Given the description of an element on the screen output the (x, y) to click on. 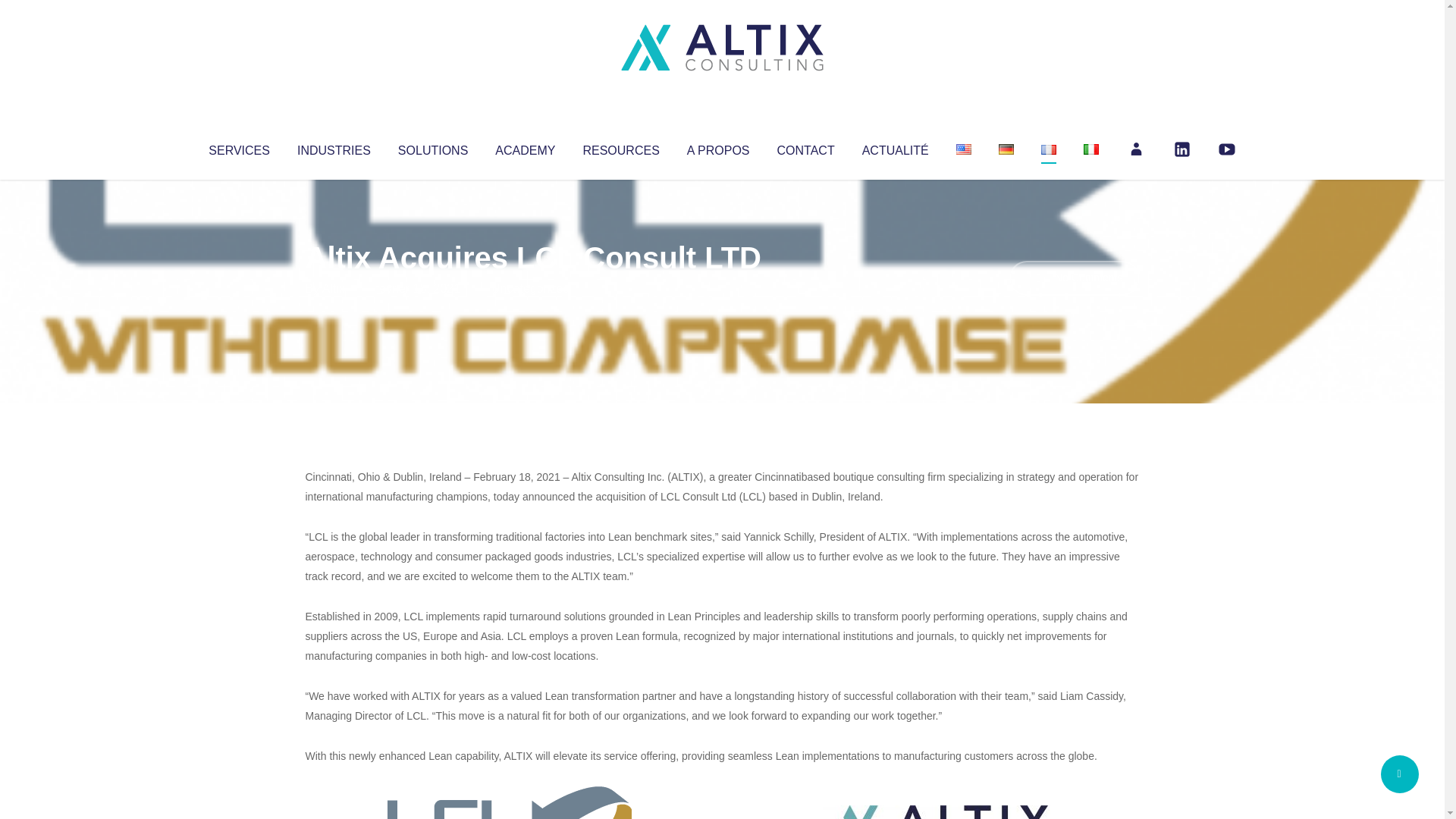
No Comments (1073, 278)
SERVICES (238, 146)
Altix (333, 287)
RESOURCES (620, 146)
A PROPOS (718, 146)
INDUSTRIES (334, 146)
Uncategorized (530, 287)
SOLUTIONS (432, 146)
ACADEMY (524, 146)
Articles par Altix (333, 287)
